Given the description of an element on the screen output the (x, y) to click on. 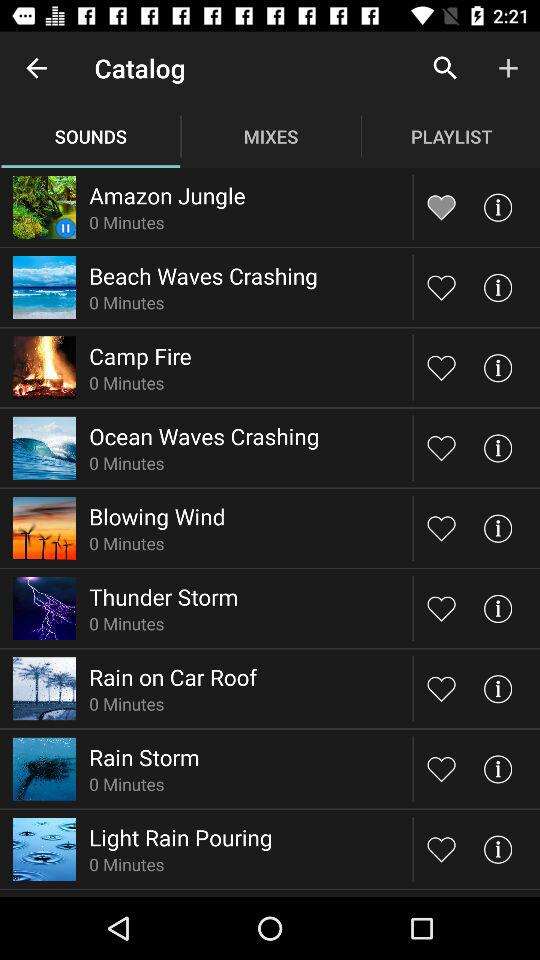
information (498, 447)
